Given the description of an element on the screen output the (x, y) to click on. 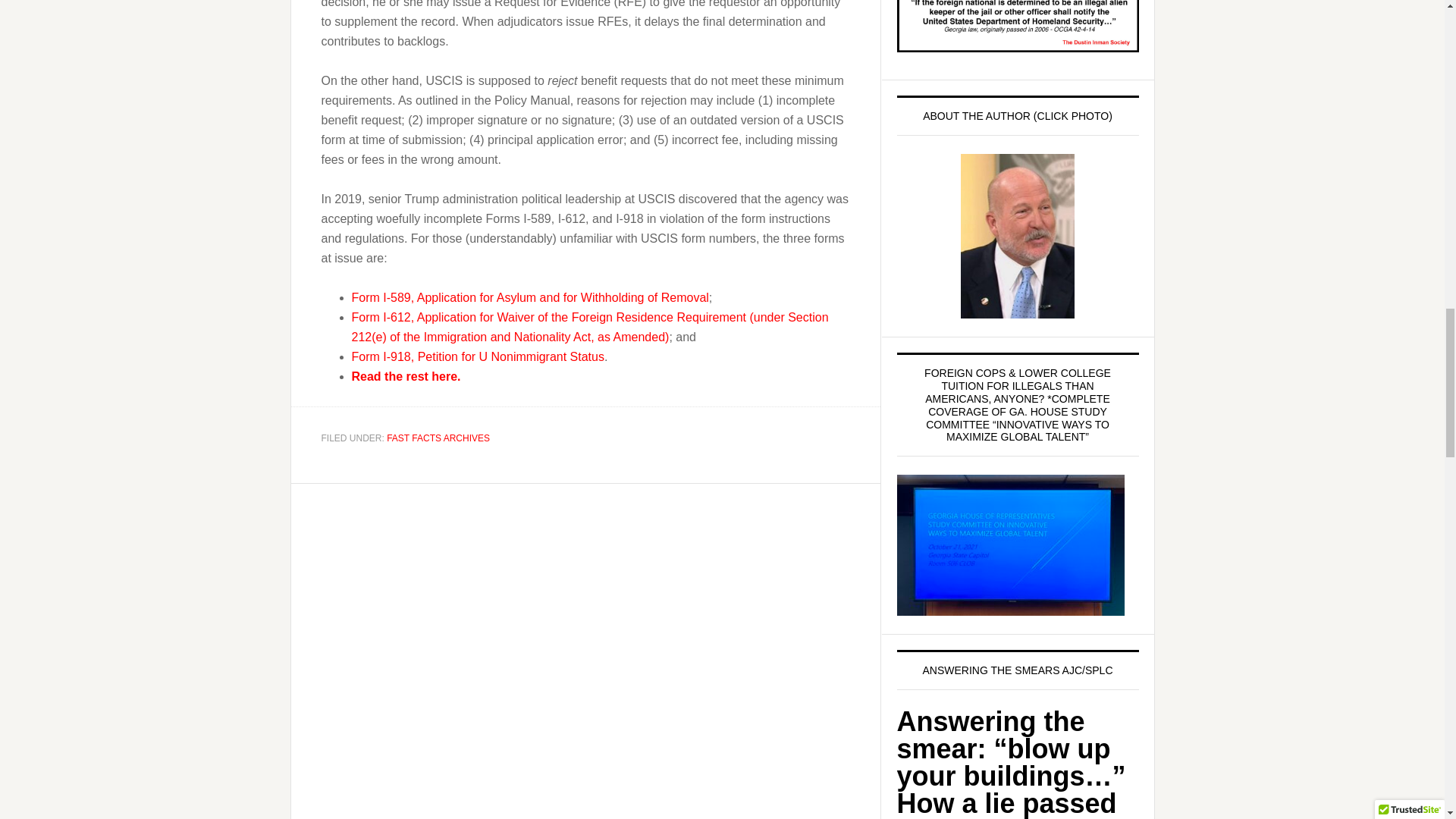
FAST FACTS ARCHIVES (438, 438)
Read the rest here. (406, 376)
Form I-918, Petition for U Nonimmigrant Status (478, 356)
Border Hawk News (1010, 545)
